Given the description of an element on the screen output the (x, y) to click on. 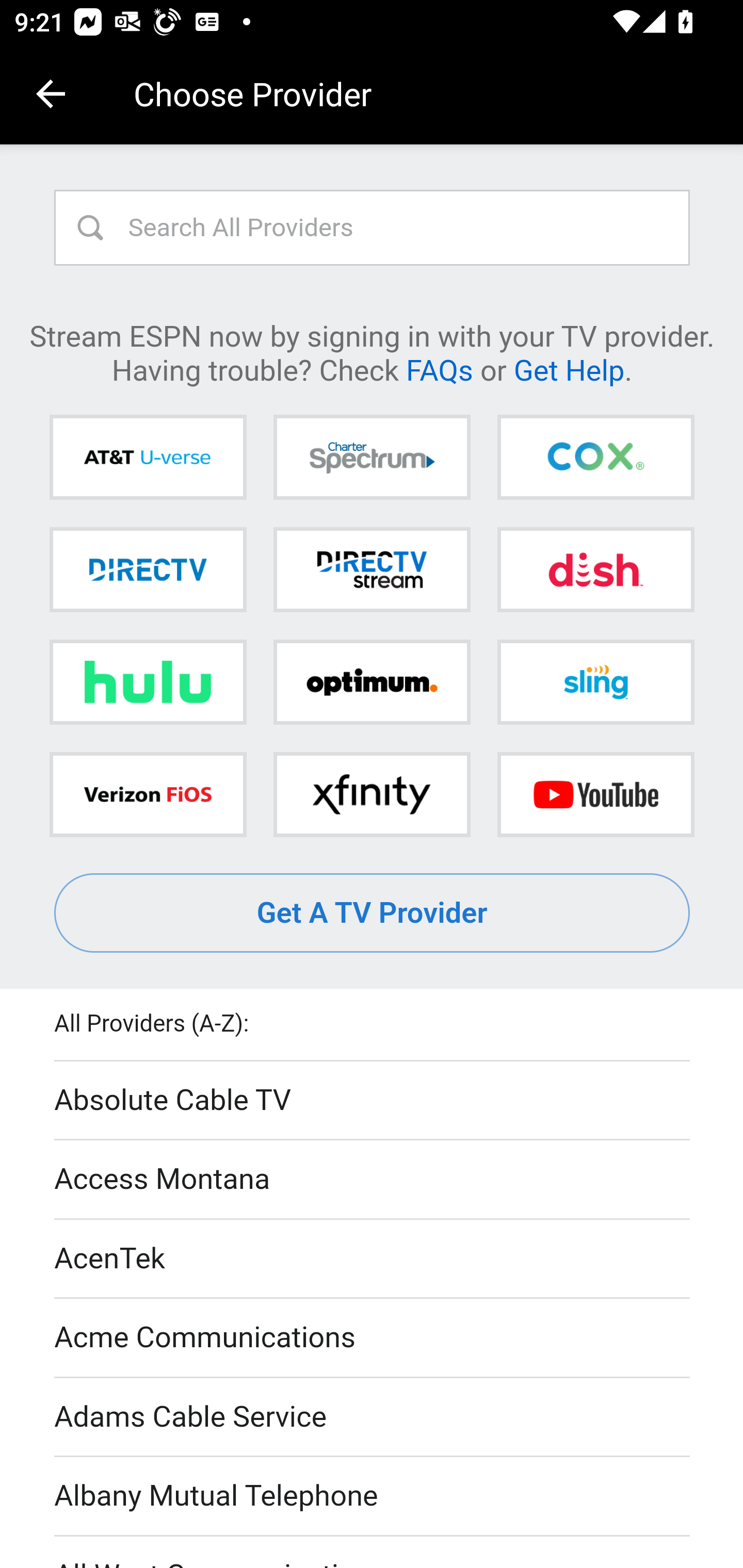
Navigate up (50, 93)
FAQs (438, 369)
Get Help (569, 369)
AT&T U-verse (147, 457)
Charter Spectrum (371, 457)
Cox (595, 457)
DIRECTV (147, 568)
DIRECTV STREAM (371, 568)
DISH (595, 568)
Hulu (147, 681)
Optimum (371, 681)
Sling TV (595, 681)
Verizon FiOS (147, 793)
Xfinity (371, 793)
YouTube TV (595, 793)
Get A TV Provider (372, 912)
Absolute Cable TV (372, 1100)
Access Montana (372, 1178)
AcenTek (372, 1258)
Acme Communications (372, 1338)
Adams Cable Service (372, 1417)
Albany Mutual Telephone (372, 1497)
